Given the description of an element on the screen output the (x, y) to click on. 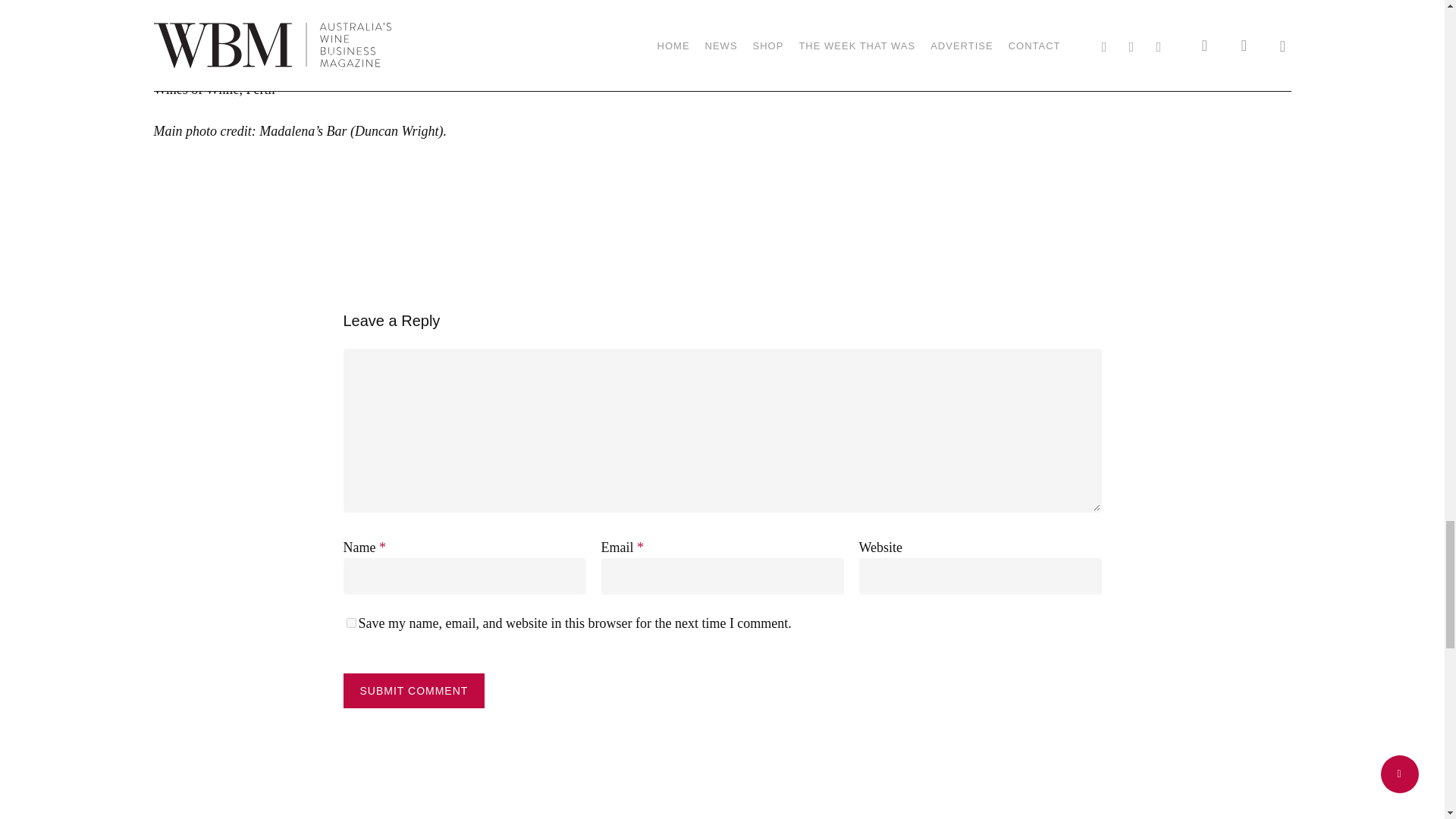
yes (350, 623)
Page 3 (542, 70)
Submit Comment (413, 690)
